Given the description of an element on the screen output the (x, y) to click on. 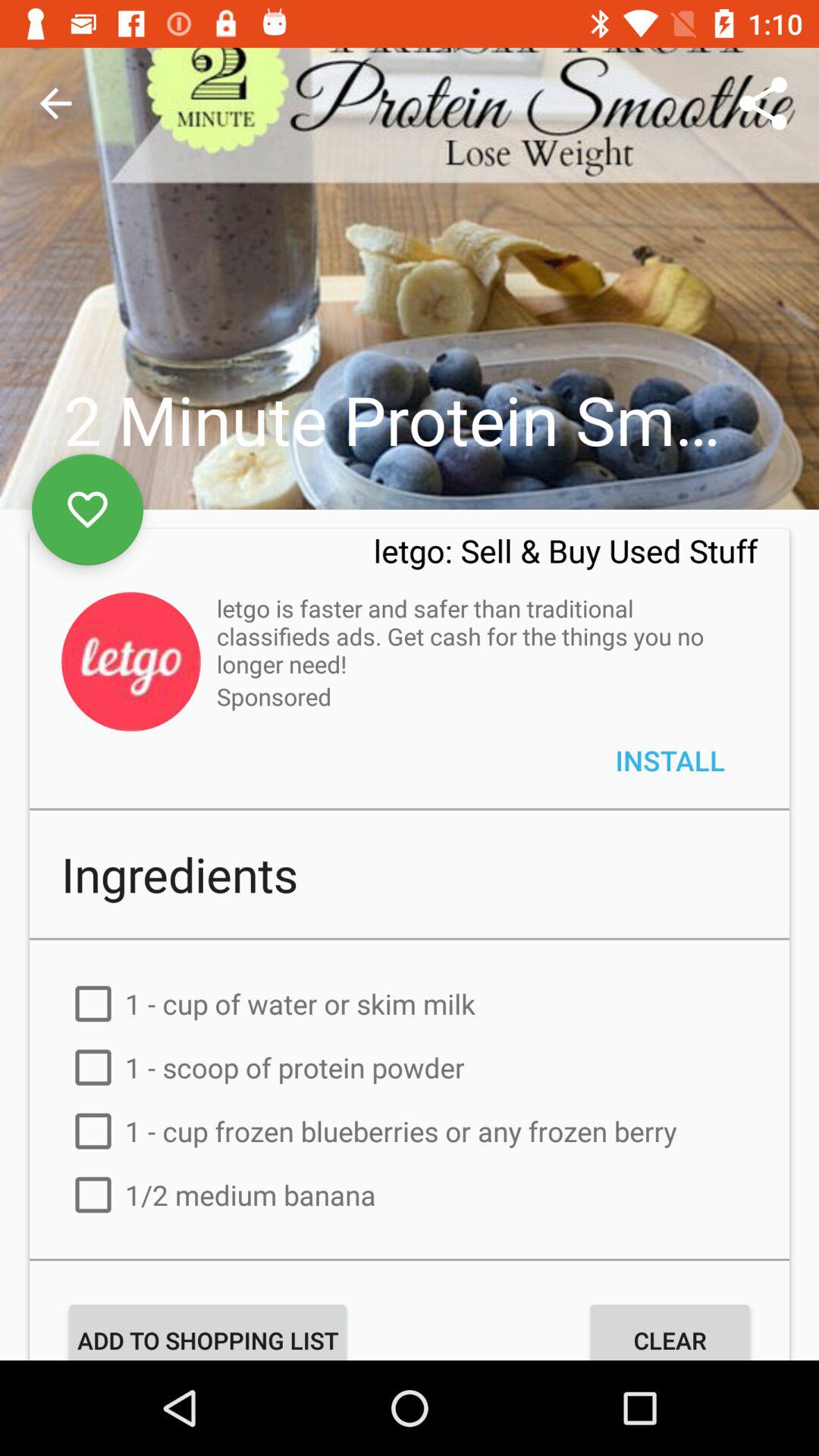
shopping click option (409, 1290)
